Given the description of an element on the screen output the (x, y) to click on. 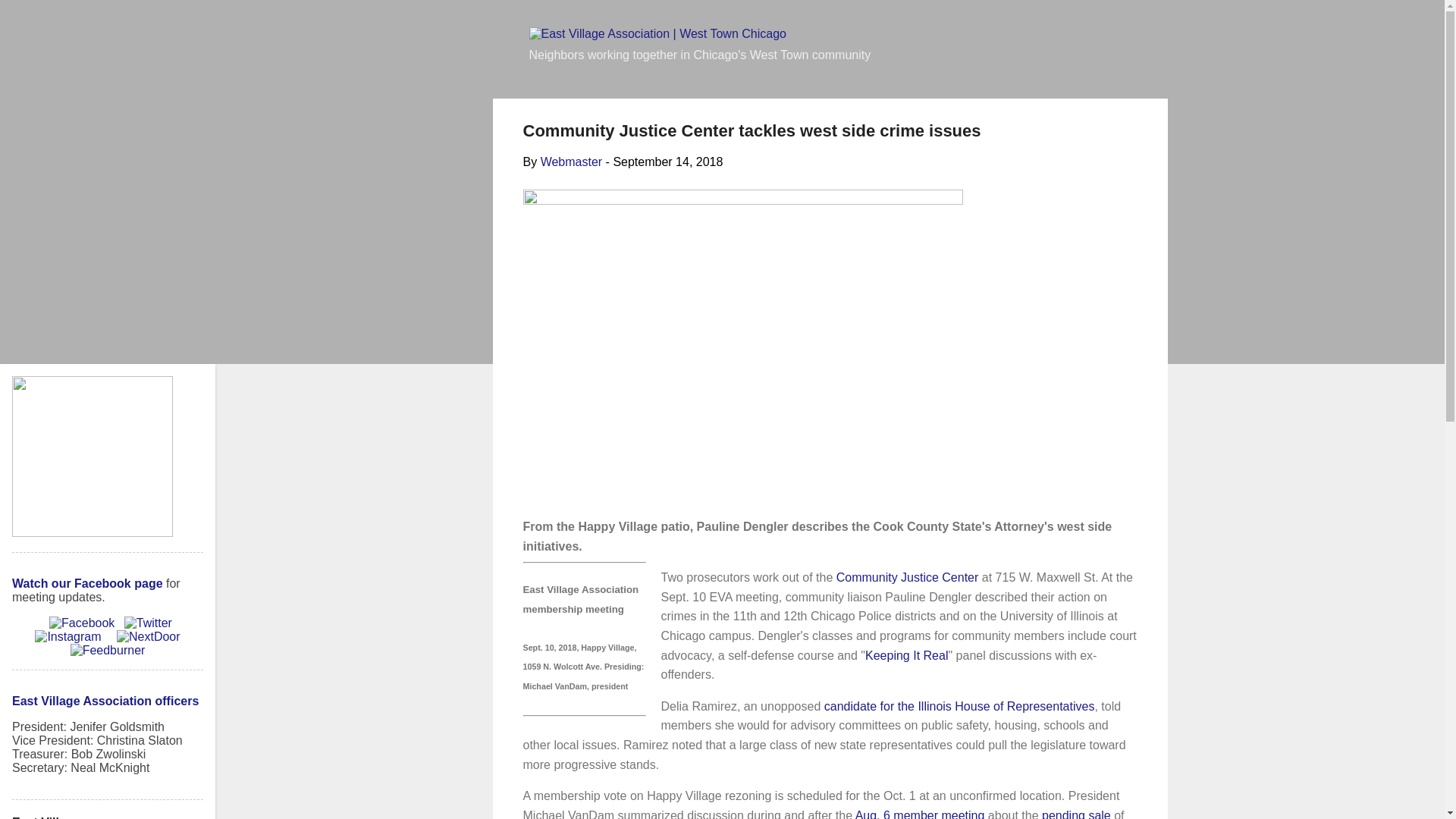
author profile (571, 161)
Watch our Facebook page (87, 583)
September 14, 2018 (667, 161)
candidate for the Illinois House of Representatives (959, 706)
pending sale (1076, 814)
Webmaster (571, 161)
Aug. 6 member meeting (920, 814)
Community Justice Center (906, 576)
Keeping It Real (905, 655)
Search (32, 18)
